Given the description of an element on the screen output the (x, y) to click on. 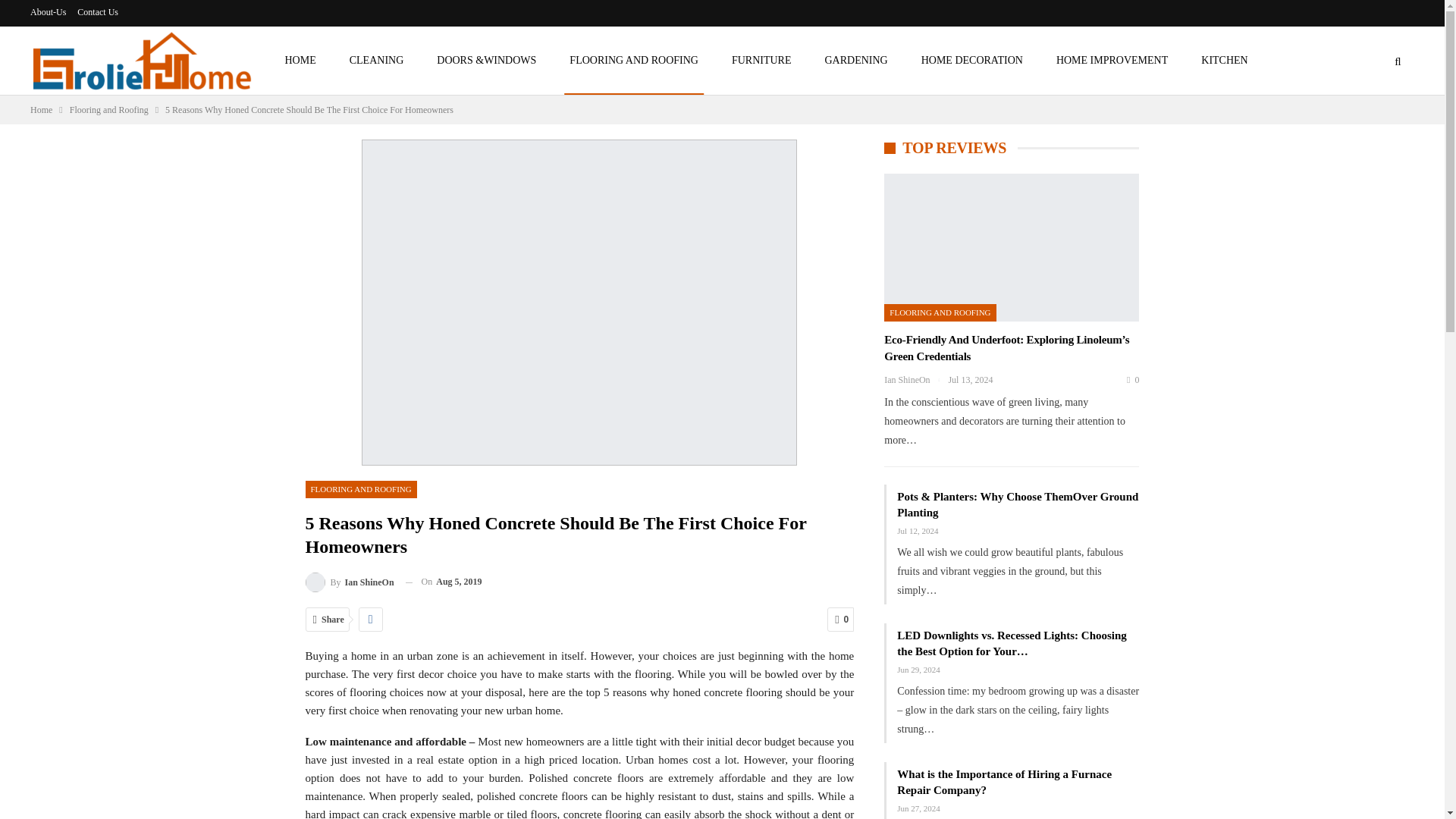
HOME DECORATION (971, 60)
FURNITURE (761, 60)
FLOORING AND ROOFING (360, 488)
About-Us (47, 11)
HOME IMPROVEMENT (1112, 60)
FLOORING AND ROOFING (633, 60)
CLEANING (376, 60)
Contact Us (97, 11)
Home (41, 109)
By Ian ShineOn (348, 581)
Browse Author Articles (348, 581)
Flooring and Roofing (108, 109)
0 (840, 619)
GARDENING (855, 60)
